Given the description of an element on the screen output the (x, y) to click on. 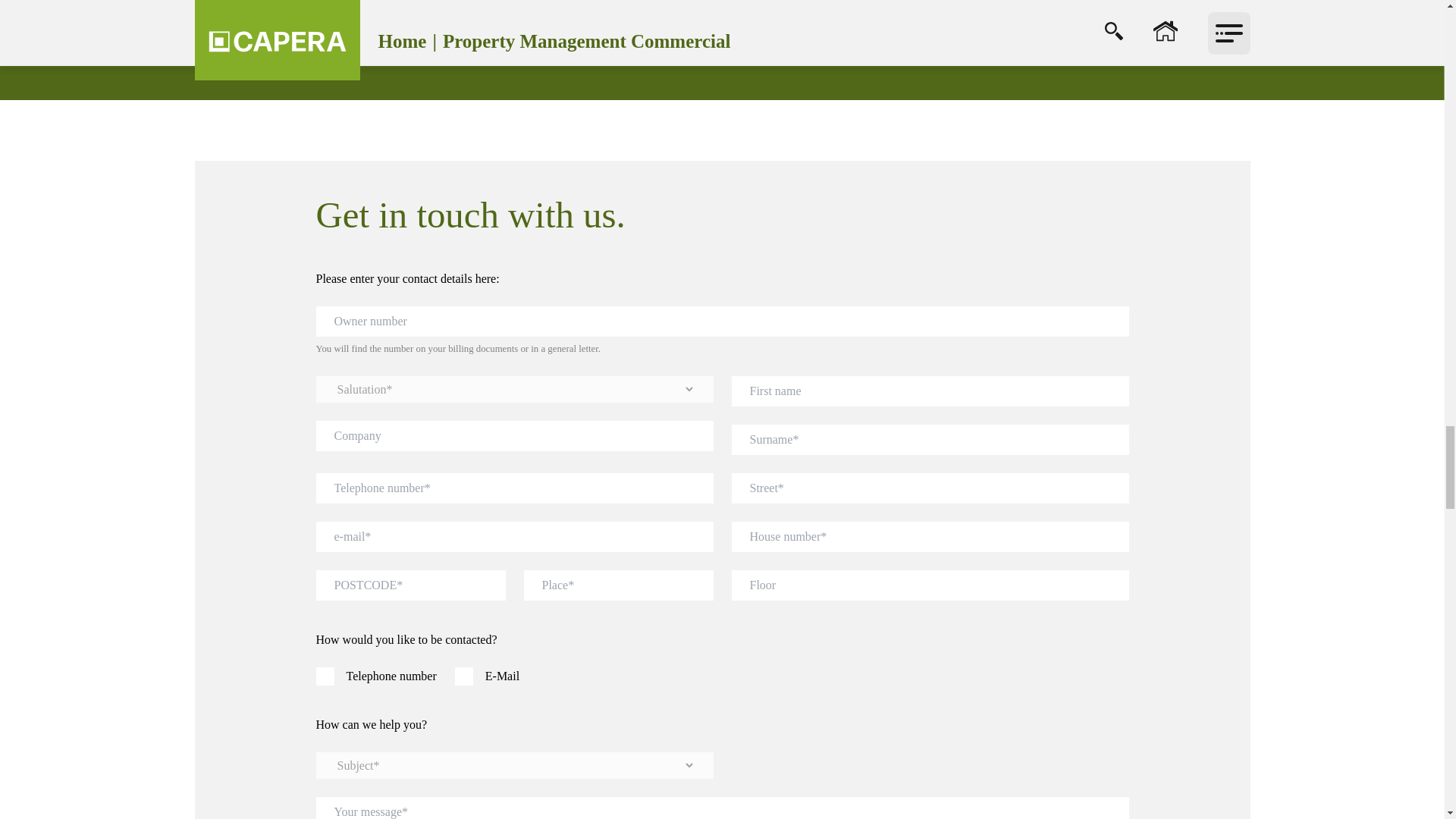
E-Mail (463, 676)
Telephone number (324, 676)
